Given the description of an element on the screen output the (x, y) to click on. 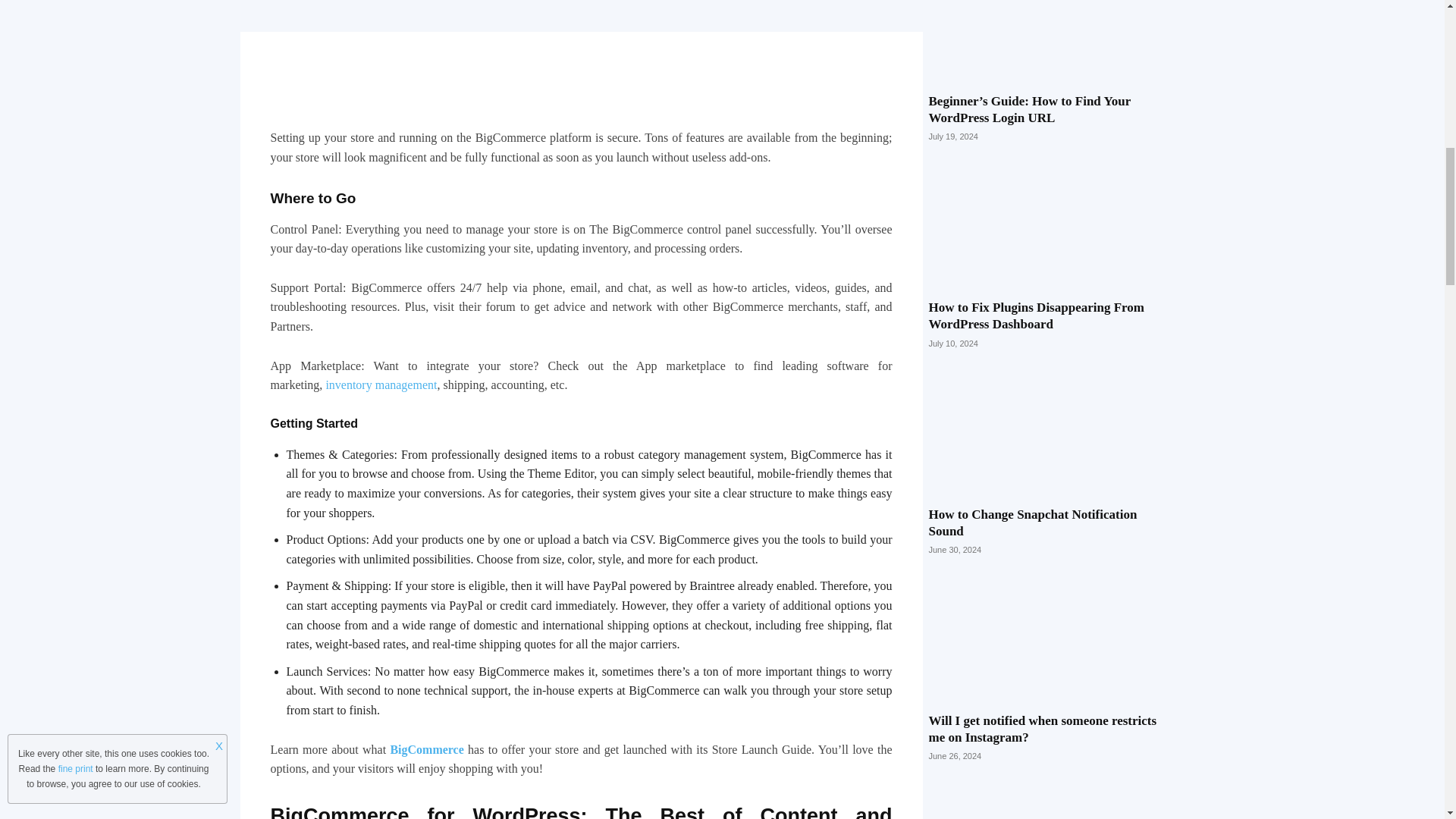
inventory management (380, 384)
Irfan Shafi (315, 0)
BigCommerce (426, 748)
